Given the description of an element on the screen output the (x, y) to click on. 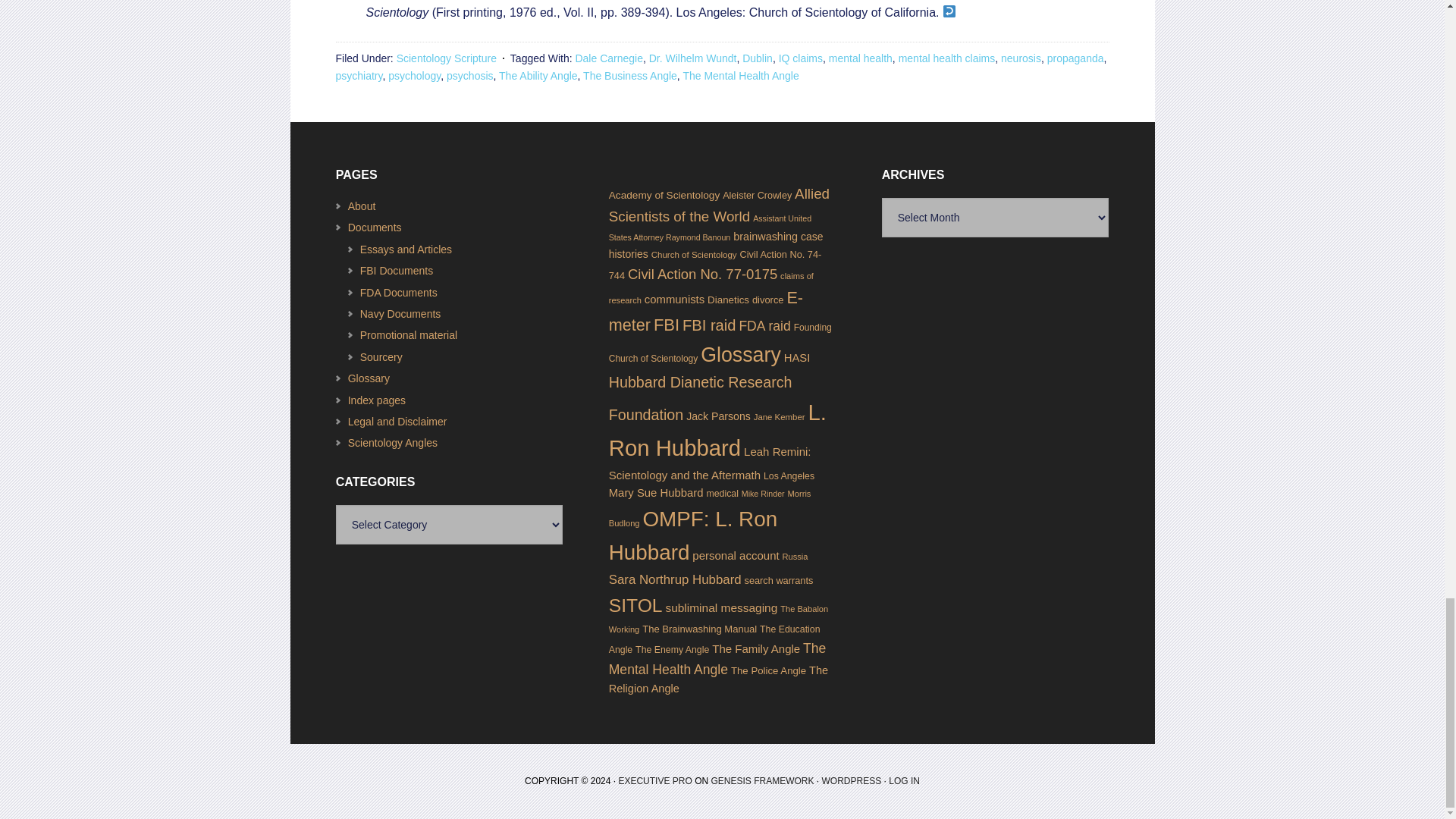
About (361, 205)
Essays and Articles (405, 249)
The Business Angle (630, 75)
psychosis (469, 75)
Dublin (757, 58)
psychology (414, 75)
Dale Carnegie (609, 58)
Documents (374, 227)
The Mental Health Angle (739, 75)
Navy Documents (400, 313)
The Ability Angle (538, 75)
mental health claims (946, 58)
IQ claims (800, 58)
Scientology Scripture (446, 58)
mental health (860, 58)
